Given the description of an element on the screen output the (x, y) to click on. 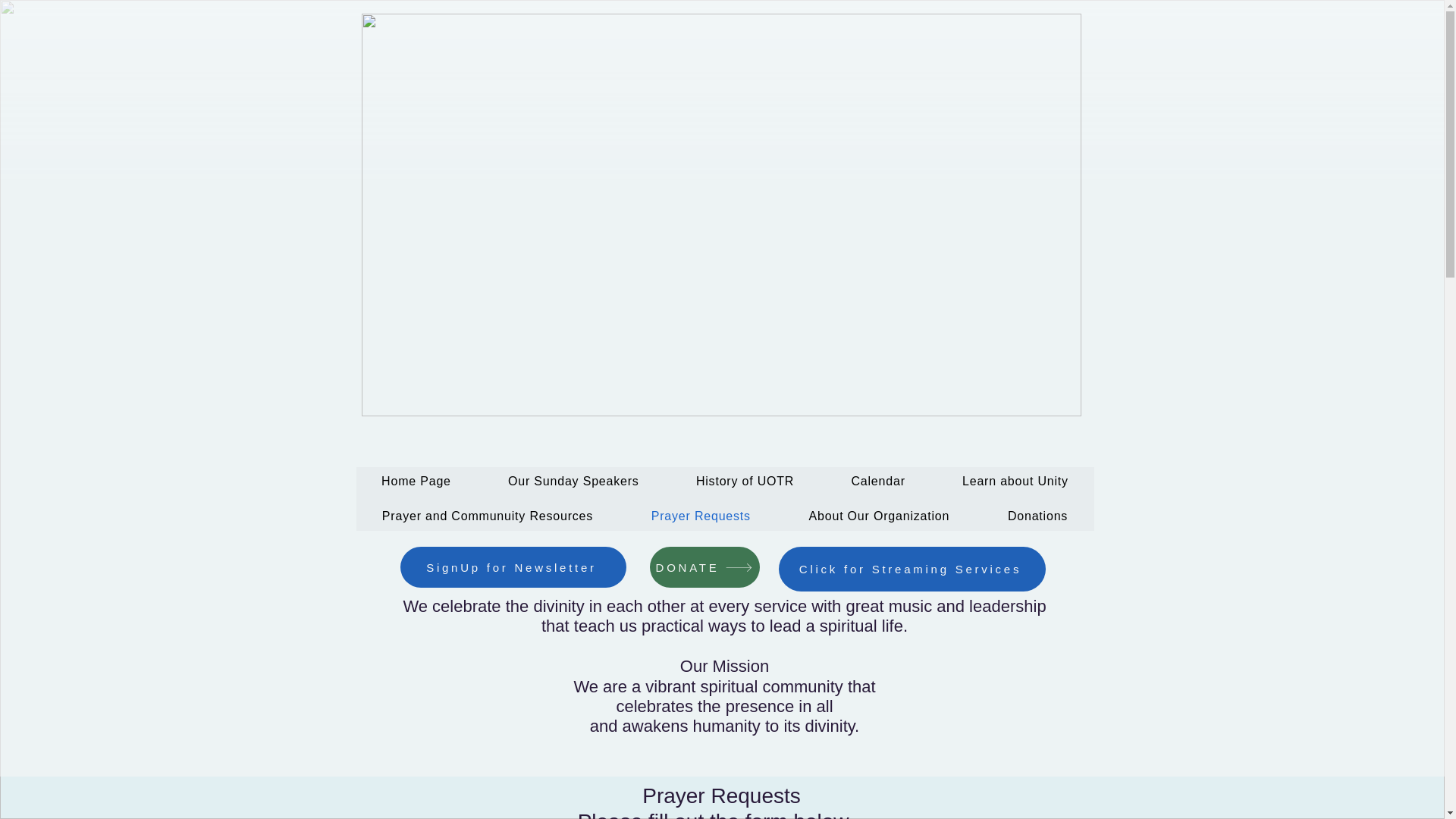
Donations (1037, 516)
About Our Organization (879, 516)
Calendar (878, 481)
Home Page (416, 481)
Our Sunday Speakers (572, 481)
DONATE (703, 567)
SignUp for Newsletter (513, 567)
Click for Streaming Services (911, 569)
Prayer and Communuity Resources (488, 516)
Prayer Requests (700, 516)
